Given the description of an element on the screen output the (x, y) to click on. 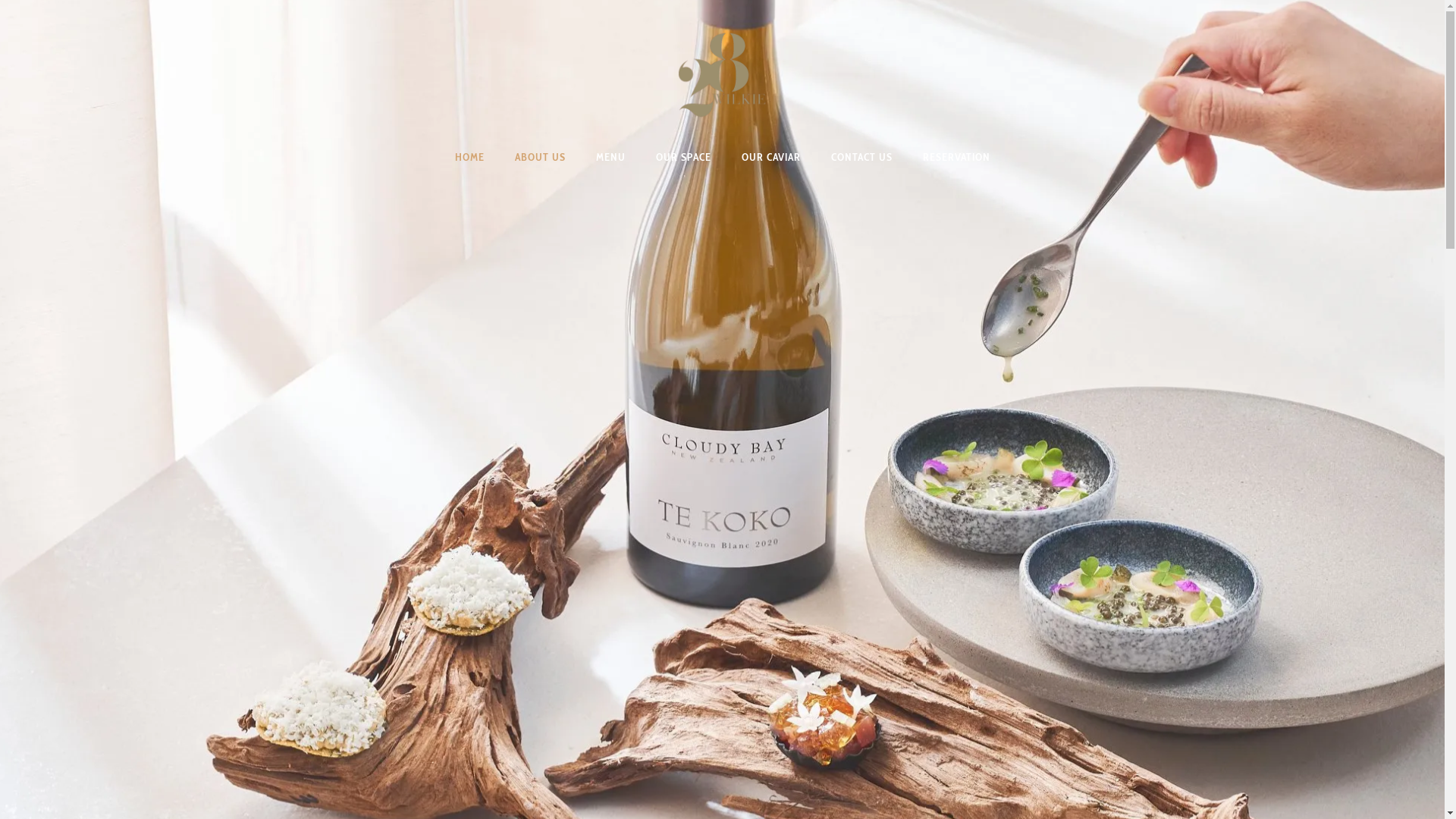
ABOUT US Element type: text (539, 156)
RESERVATION Element type: text (955, 156)
CONTACT US Element type: text (861, 156)
OUR CAVIAR Element type: text (770, 156)
HOME Element type: text (469, 156)
28@Wilkie Element type: hover (722, 66)
MENU Element type: text (610, 156)
OUR SPACE Element type: text (682, 156)
